Given the description of an element on the screen output the (x, y) to click on. 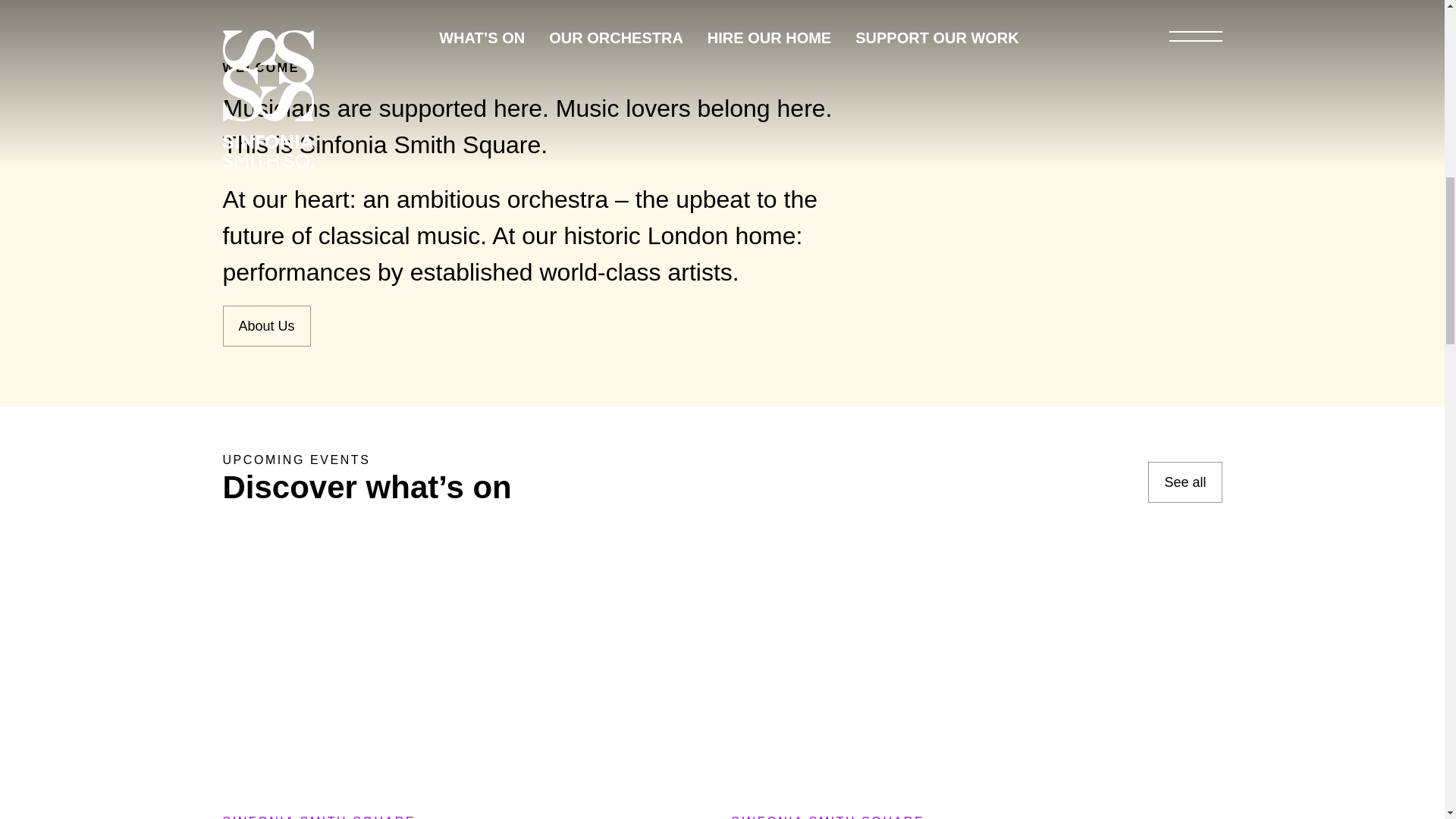
See all (1184, 481)
About Us (266, 325)
